Given the description of an element on the screen output the (x, y) to click on. 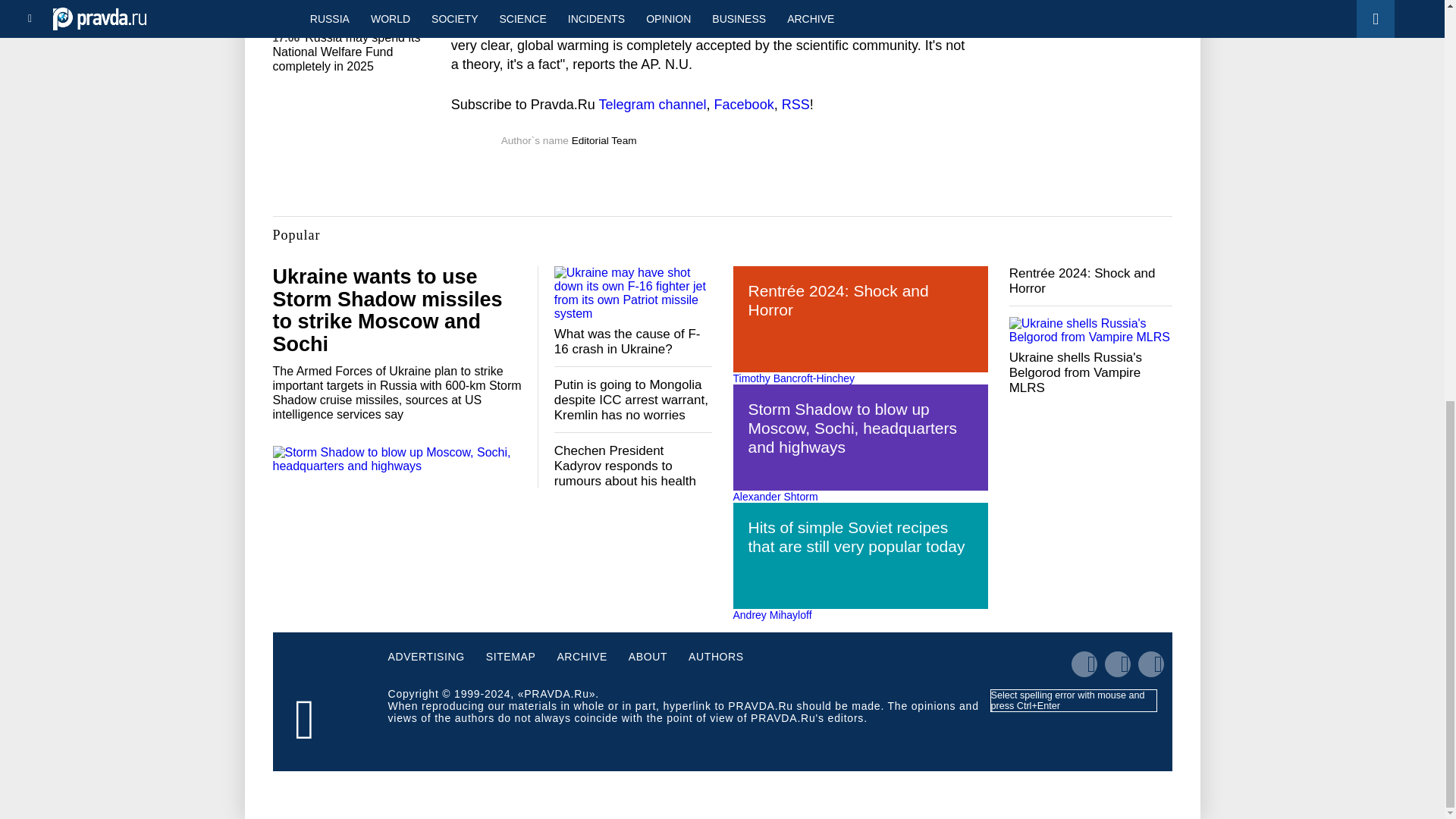
Editorial Team (604, 140)
RSS (795, 104)
Facebook (744, 104)
Telegram channel (652, 104)
Back to top (1418, 114)
